Given the description of an element on the screen output the (x, y) to click on. 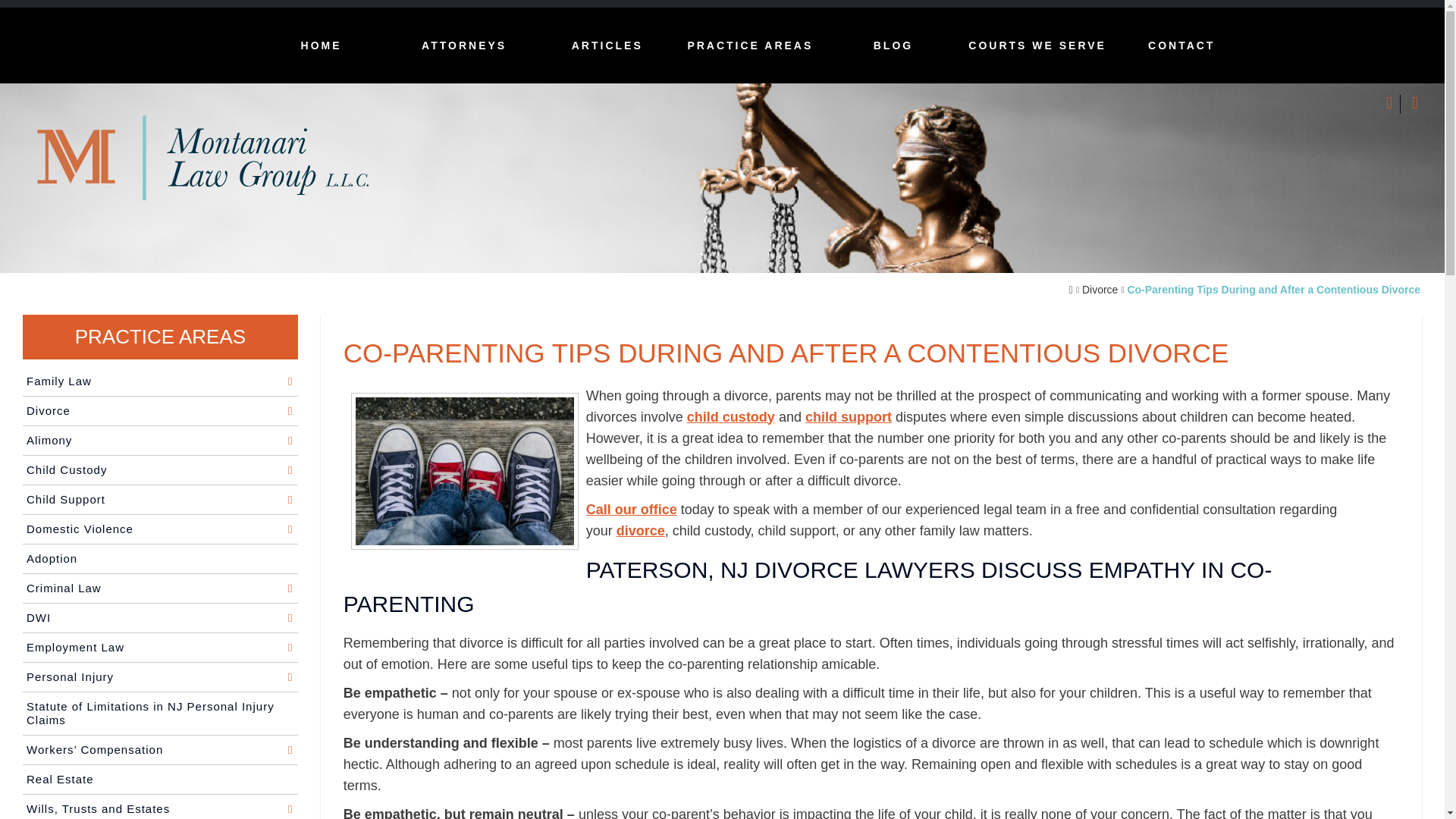
HOME (320, 45)
ATTORNEYS (464, 45)
PRACTICE AREAS (750, 45)
Co-Parenting Tips During and After a Contentious Divorce (1273, 289)
ARTICLES (606, 45)
